Given the description of an element on the screen output the (x, y) to click on. 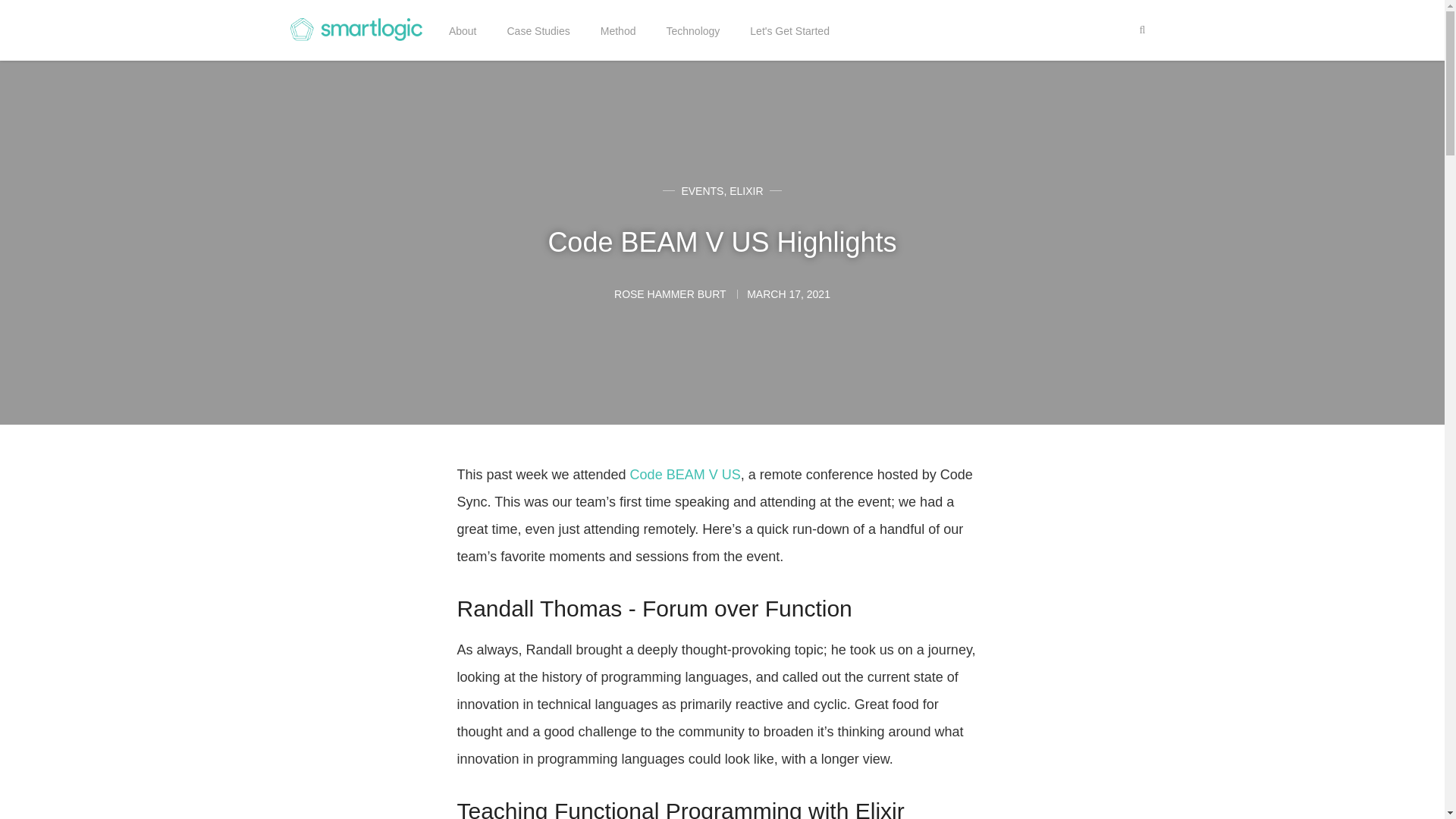
Let's Get Started (789, 30)
Method (617, 30)
Technology (692, 30)
EVENTS (702, 191)
Case Studies (537, 30)
ROSE HAMMER BURT (671, 294)
ELIXIR (745, 191)
Code BEAM V US (685, 474)
About (462, 30)
